Given the description of an element on the screen output the (x, y) to click on. 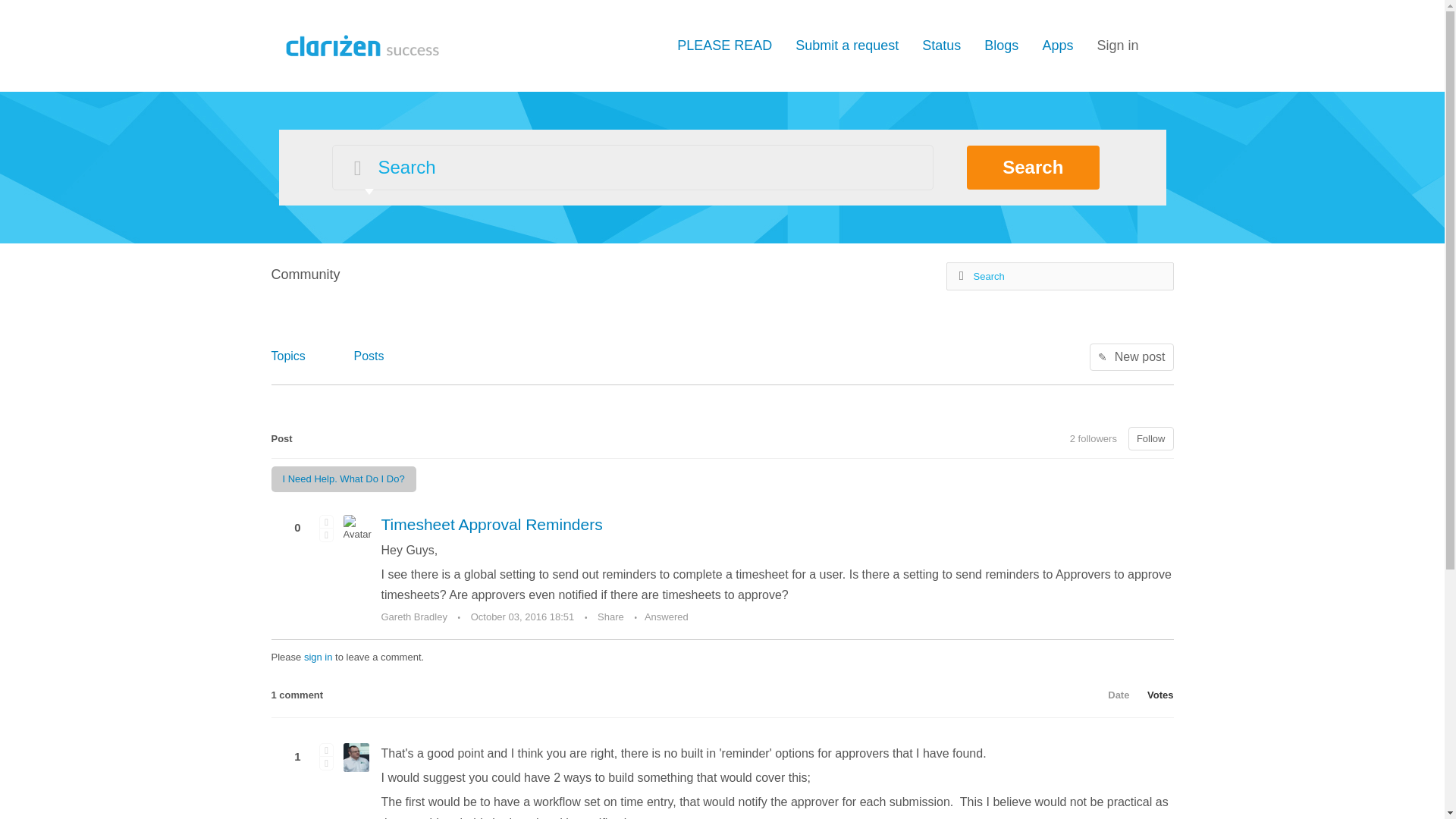
Topics (287, 354)
Opens a dialog (1117, 46)
Submit a request (846, 46)
Home (360, 44)
sign in (318, 656)
Apps (1057, 46)
2016-10-03 18:51 (522, 616)
Opens a sign-in dialog (1150, 437)
Votes (1152, 695)
No (325, 763)
I Need Help. What Do I Do? (343, 479)
PLEASE READ (724, 46)
Blogs (1000, 46)
Yes (325, 749)
Yes (325, 520)
